Given the description of an element on the screen output the (x, y) to click on. 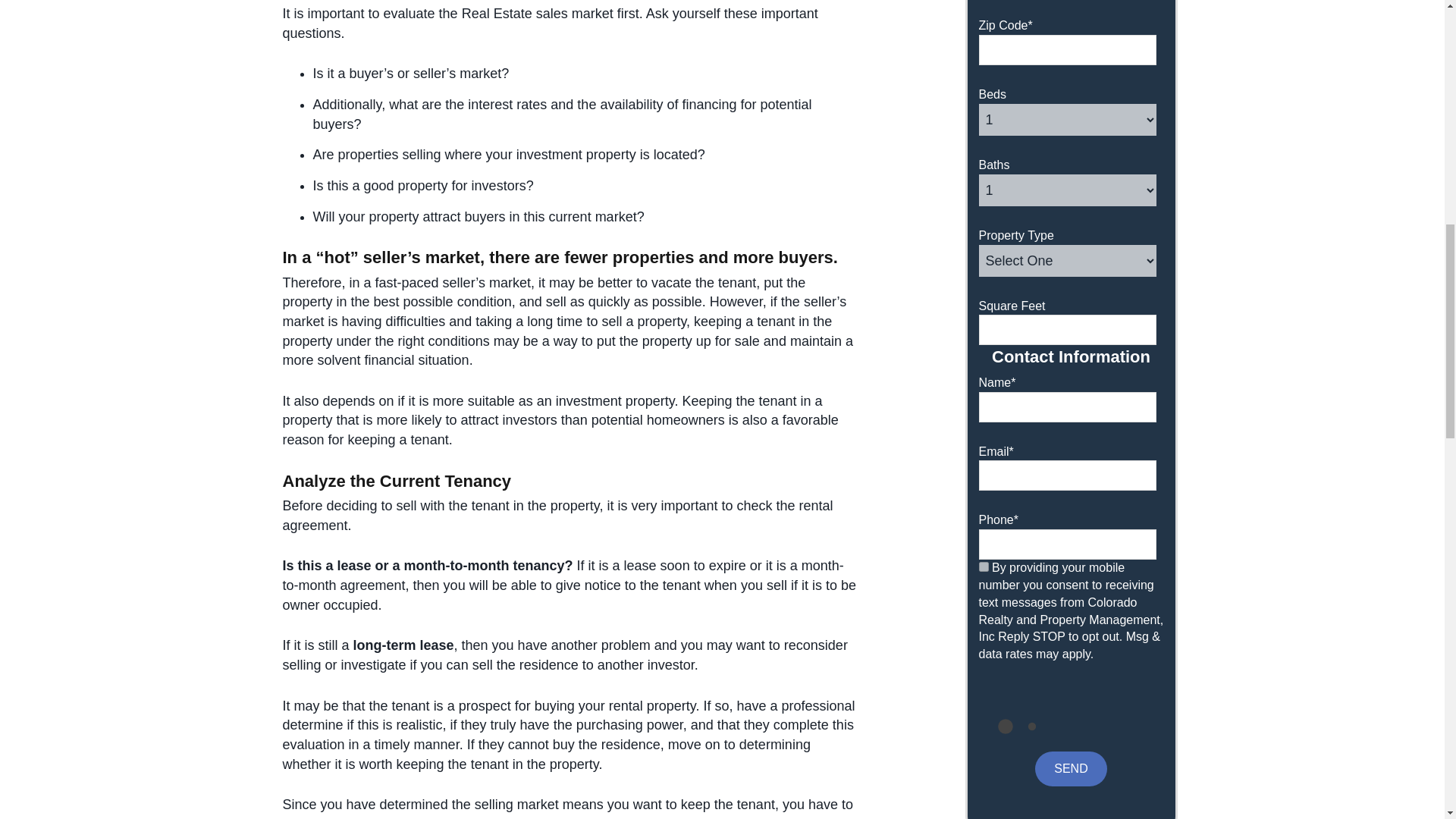
Send (1070, 768)
